Given the description of an element on the screen output the (x, y) to click on. 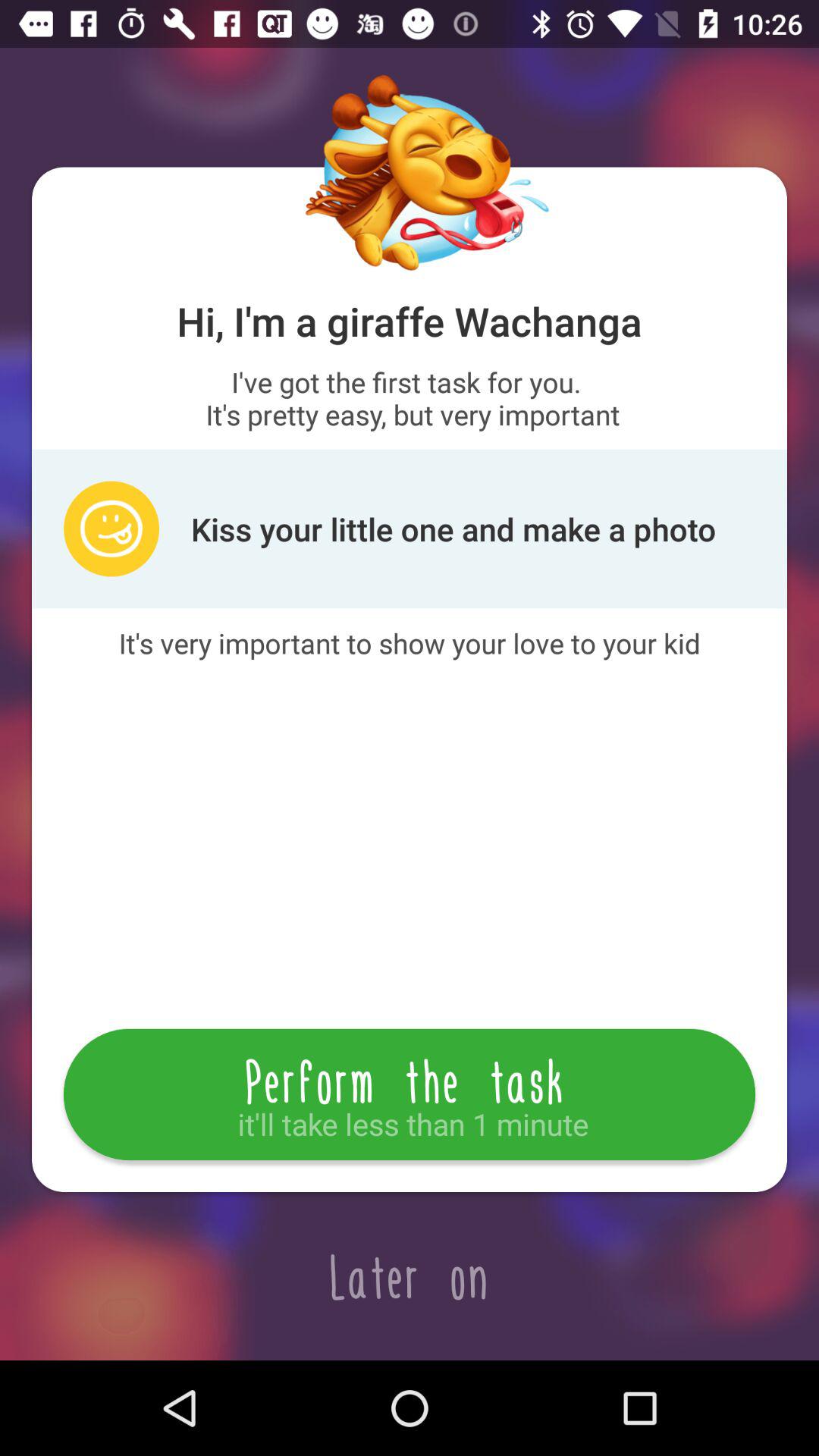
turn off the icon below perform the task icon (409, 1276)
